Given the description of an element on the screen output the (x, y) to click on. 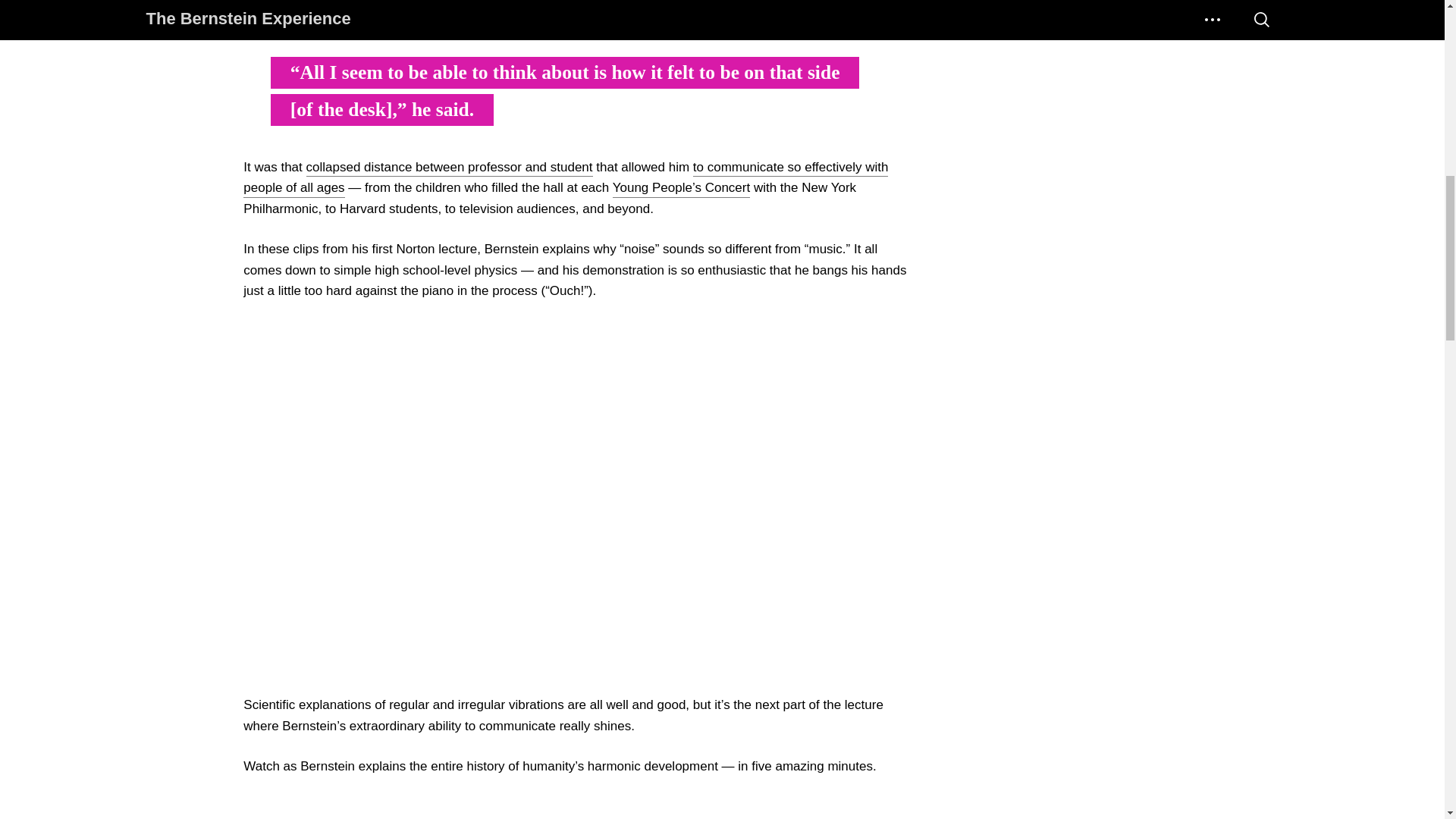
collapsed distance between professor and student (448, 168)
series of six lectures (301, 7)
to communicate so effectively with people of all ages (565, 178)
